Given the description of an element on the screen output the (x, y) to click on. 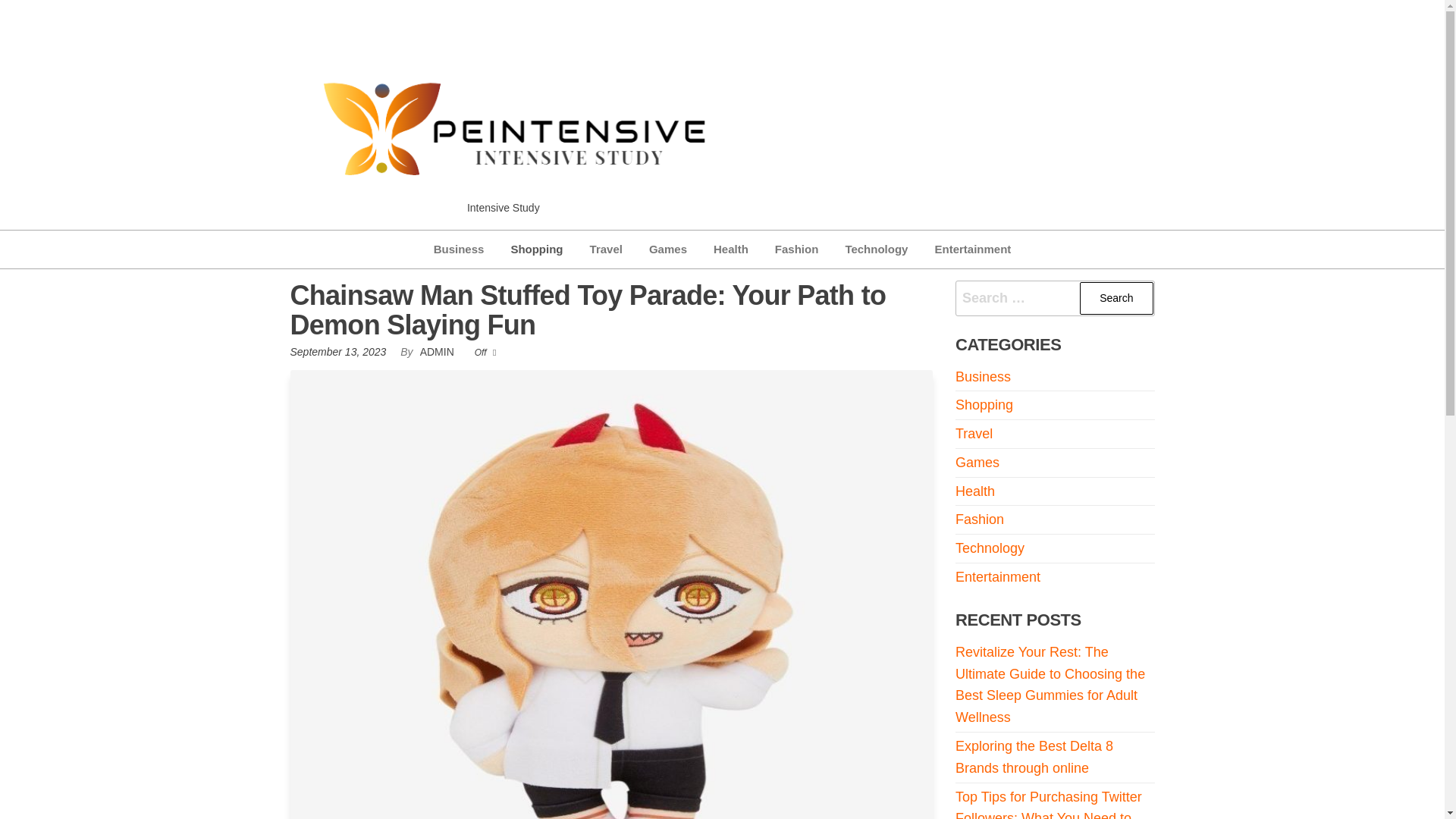
Fashion (795, 249)
Health (730, 249)
Games (976, 462)
ADMIN (438, 351)
Shopping (536, 249)
Technology (875, 249)
Business (982, 376)
Travel (605, 249)
Travel (605, 249)
Health (730, 249)
Shopping (536, 249)
Fashion (795, 249)
Search (1116, 297)
Travel (973, 433)
